Given the description of an element on the screen output the (x, y) to click on. 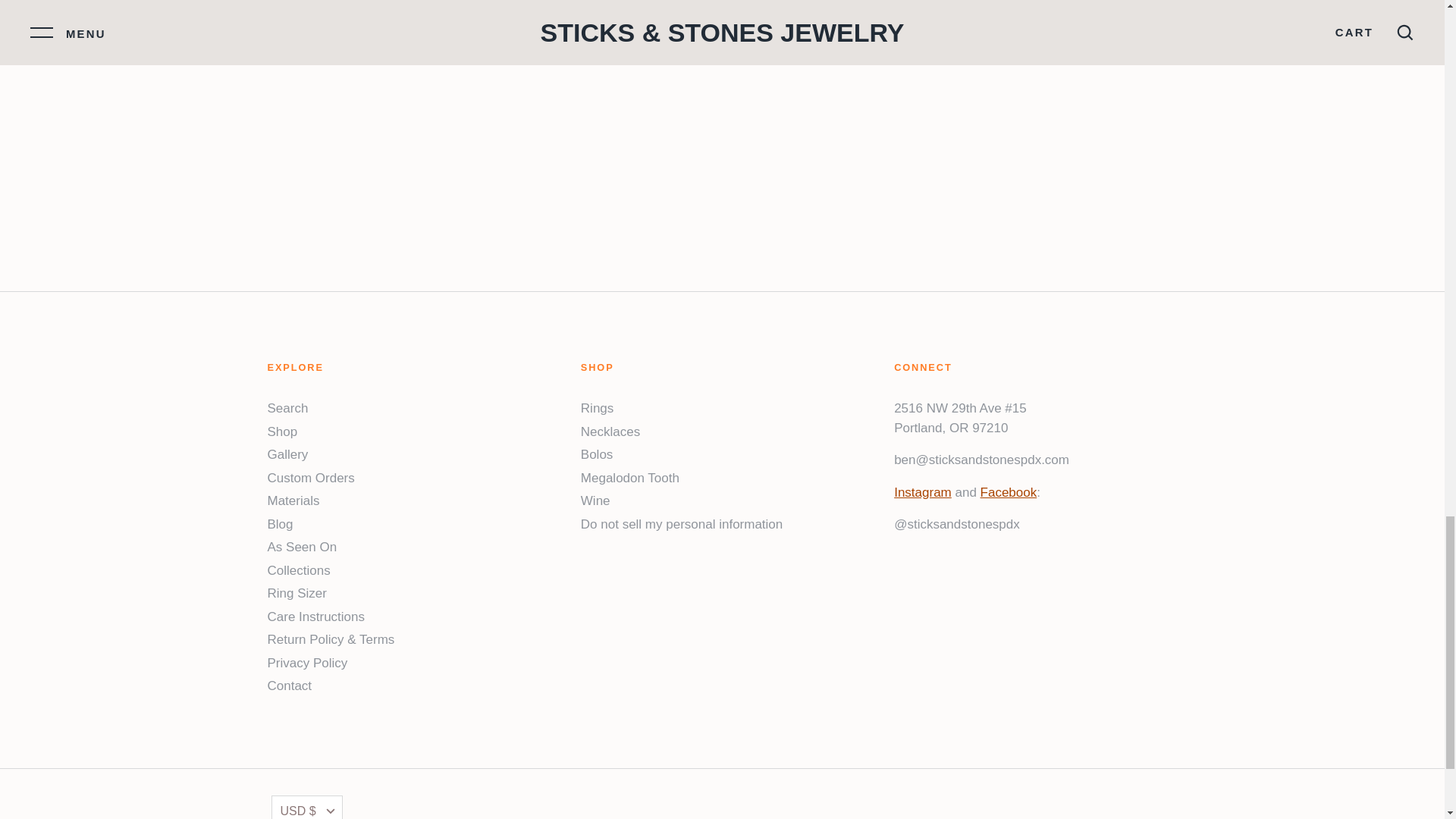
Down (330, 811)
